Given the description of an element on the screen output the (x, y) to click on. 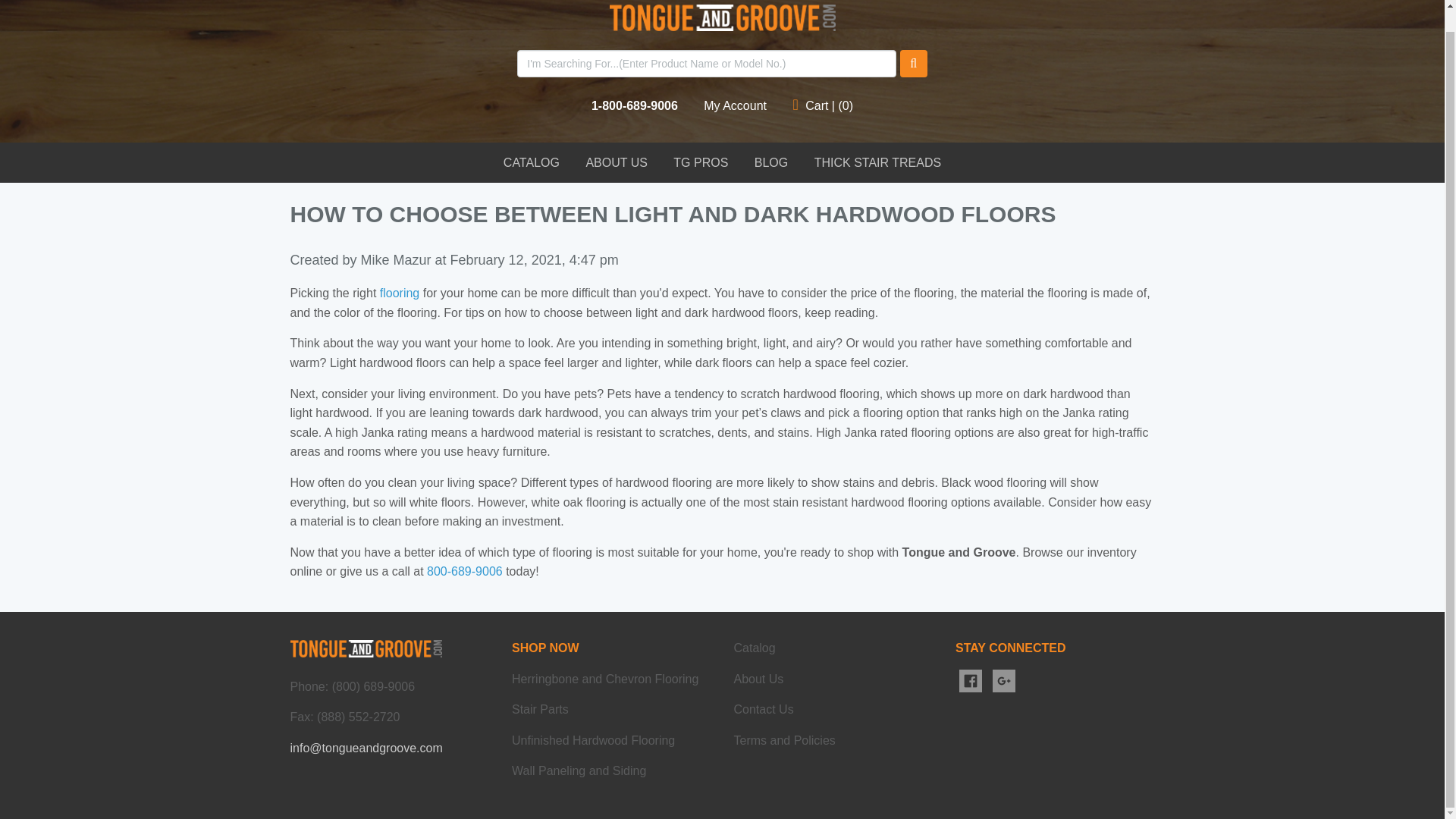
My Account (735, 105)
SHOP NOW (545, 647)
Wall Paneling and Siding (579, 770)
Stair Parts (540, 708)
ABOUT US (616, 162)
TG PROS (700, 162)
Unfinished Hardwood Flooring (593, 739)
Custom Hardwood Flooring (464, 571)
Catalog (754, 647)
1-800-689-9006 (633, 105)
THICK STAIR TREADS (877, 162)
Custom Flooring (399, 292)
CATALOG (531, 162)
BLOG (770, 162)
800-689-9006 (464, 571)
